Given the description of an element on the screen output the (x, y) to click on. 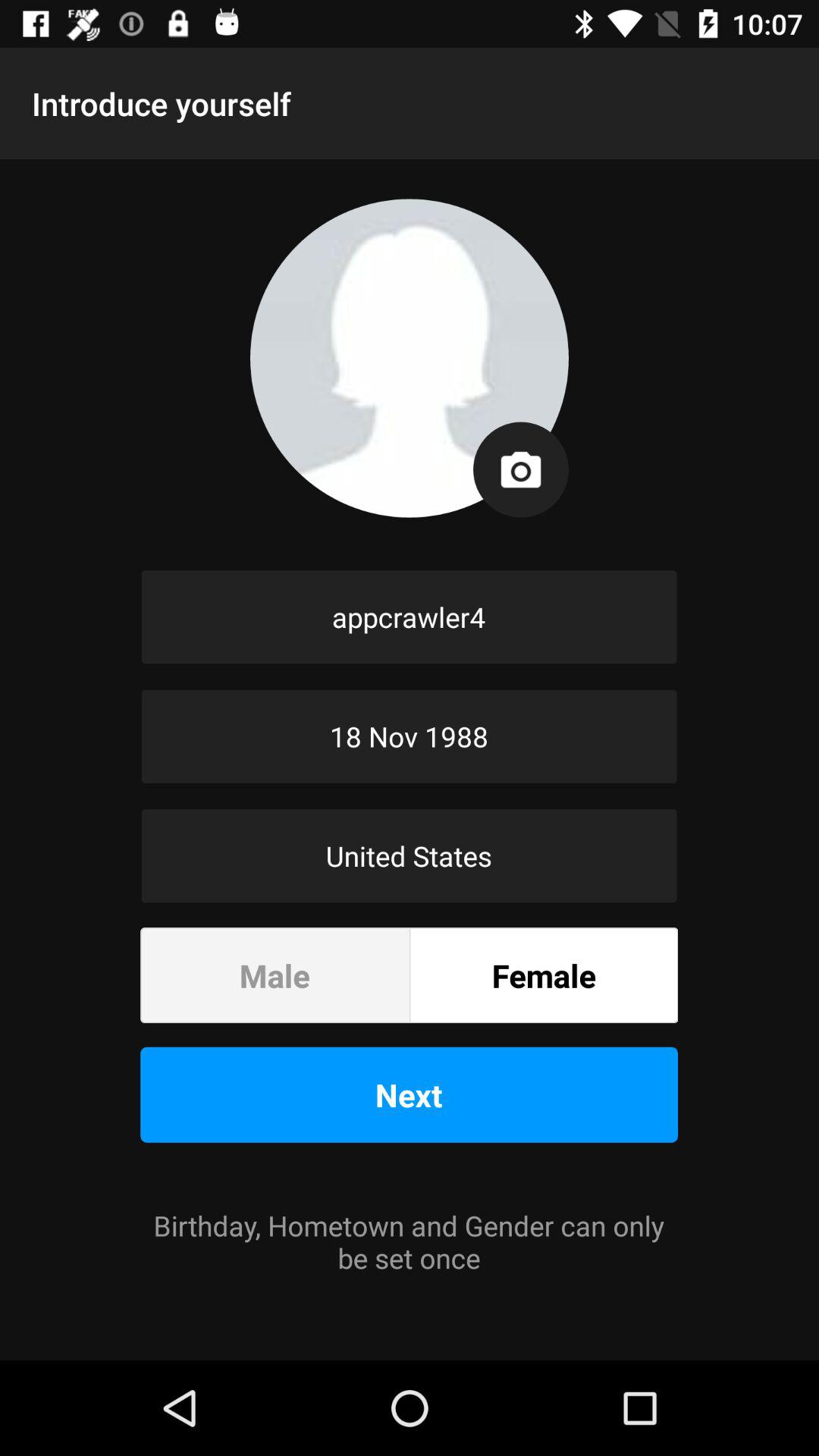
scroll to united states icon (408, 855)
